Given the description of an element on the screen output the (x, y) to click on. 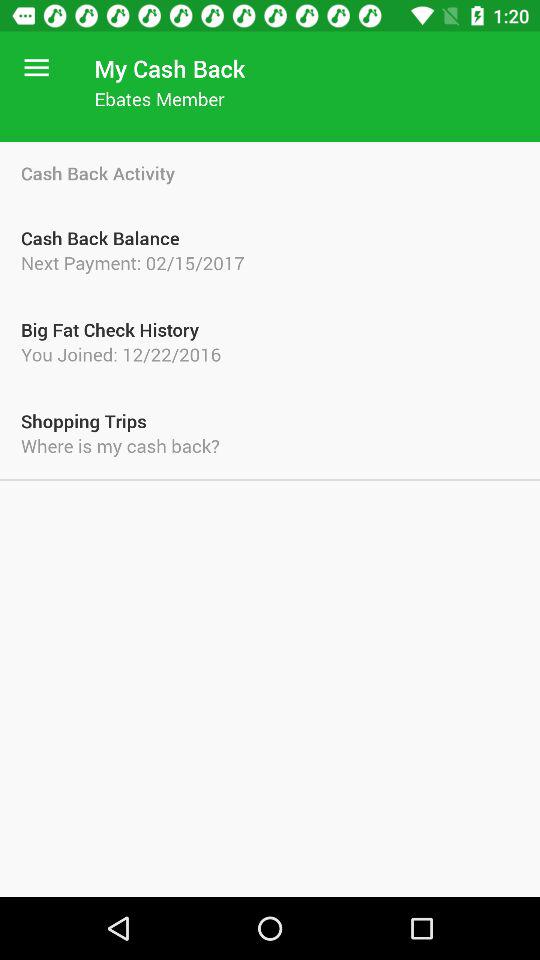
launch the next payment 02 icon (270, 262)
